Given the description of an element on the screen output the (x, y) to click on. 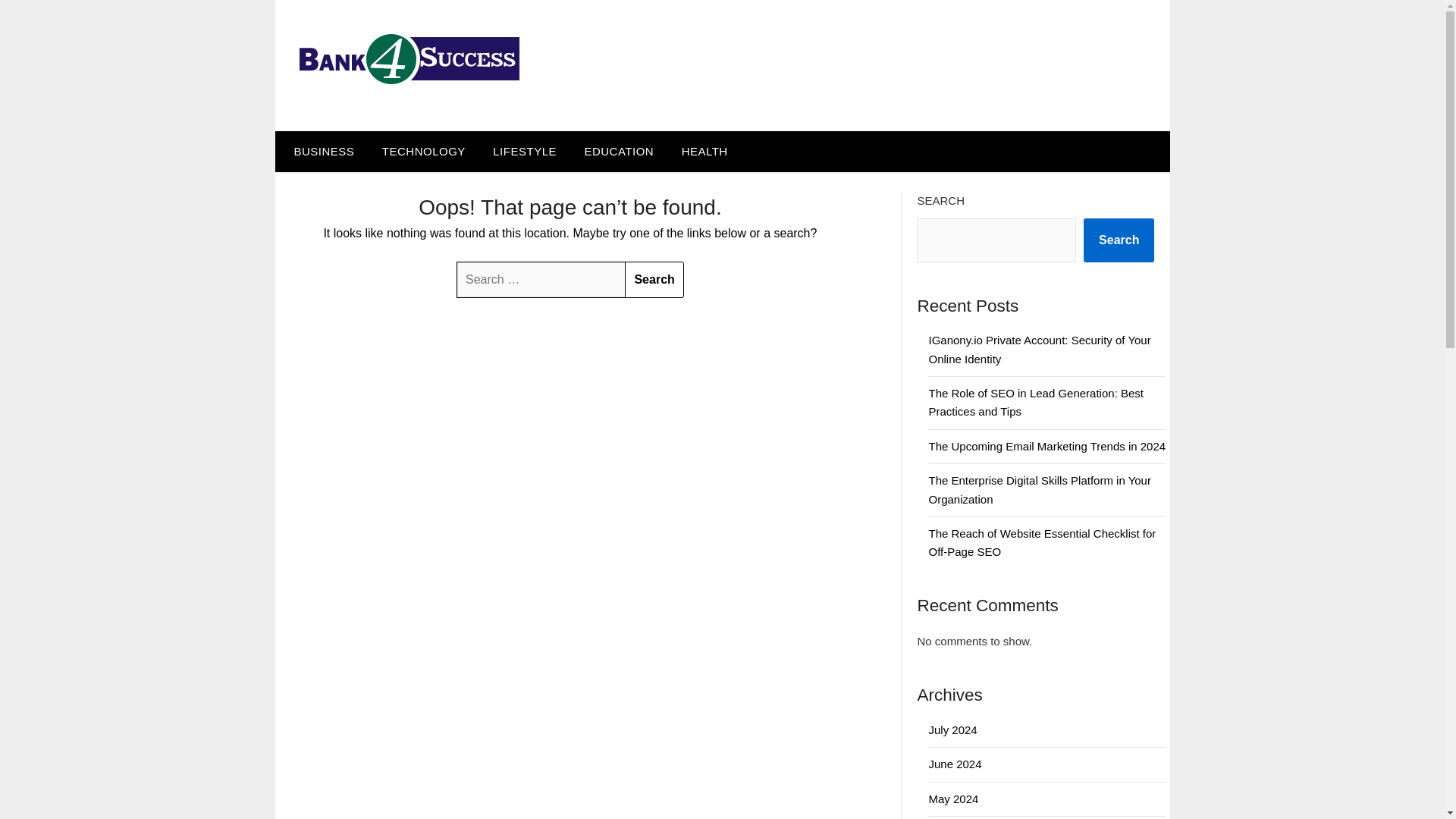
EDUCATION (618, 151)
Search (653, 279)
Search (653, 279)
May 2024 (953, 798)
The Reach of Website Essential Checklist for Off-Page SEO (1042, 542)
June 2024 (954, 763)
The Upcoming Email Marketing Trends in 2024 (1047, 445)
TECHNOLOGY (423, 151)
Search (653, 279)
BUSINESS (320, 151)
The Enterprise Digital Skills Platform in Your Organization (1039, 489)
July 2024 (952, 729)
IGanony.io Private Account: Security of Your Online Identity (1039, 348)
Search (1118, 240)
HEALTH (704, 151)
